Given the description of an element on the screen output the (x, y) to click on. 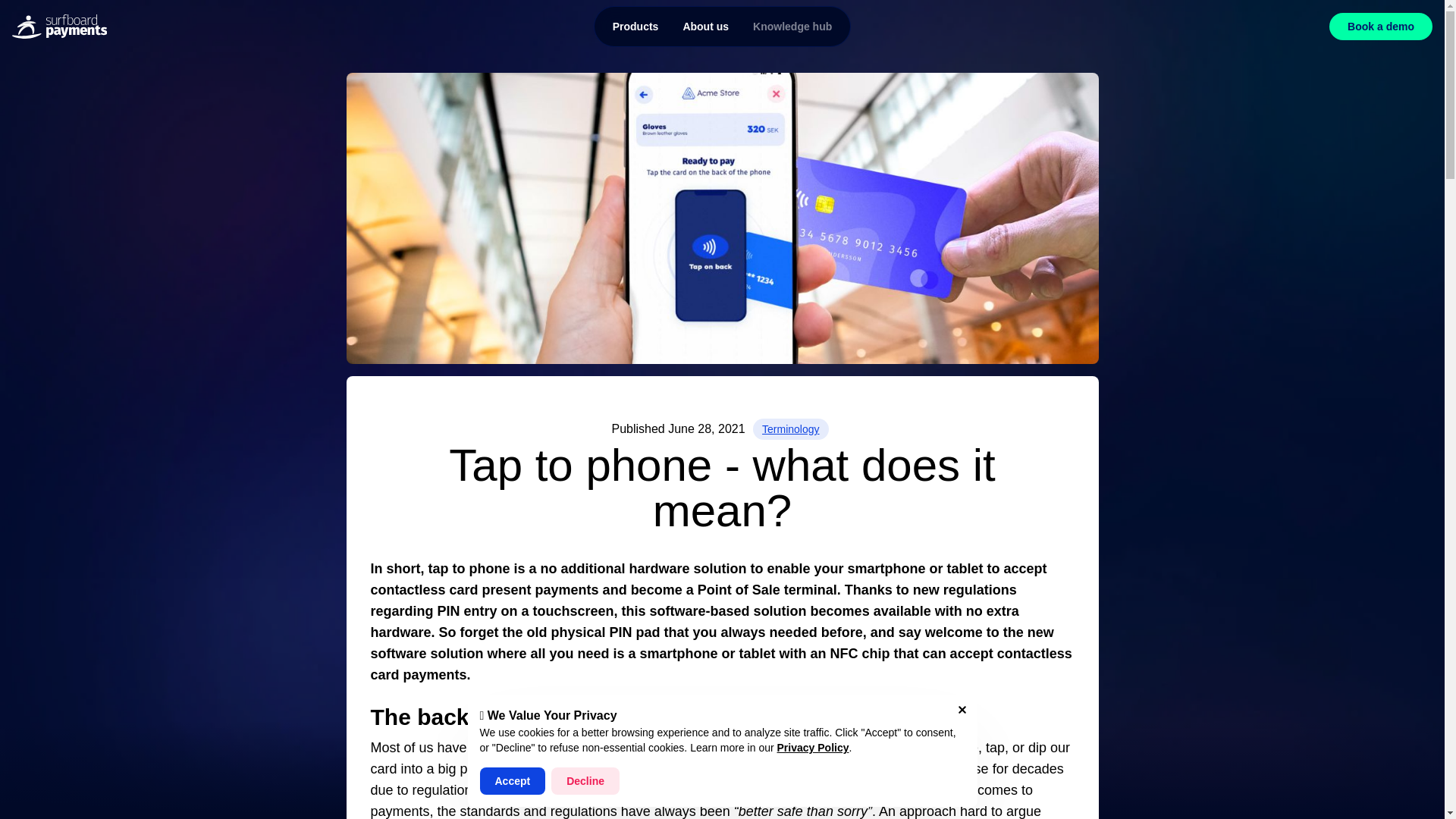
Terminology (790, 428)
Products (635, 26)
Knowledge hub (792, 26)
Book a demo (1380, 26)
About us (722, 25)
